Given the description of an element on the screen output the (x, y) to click on. 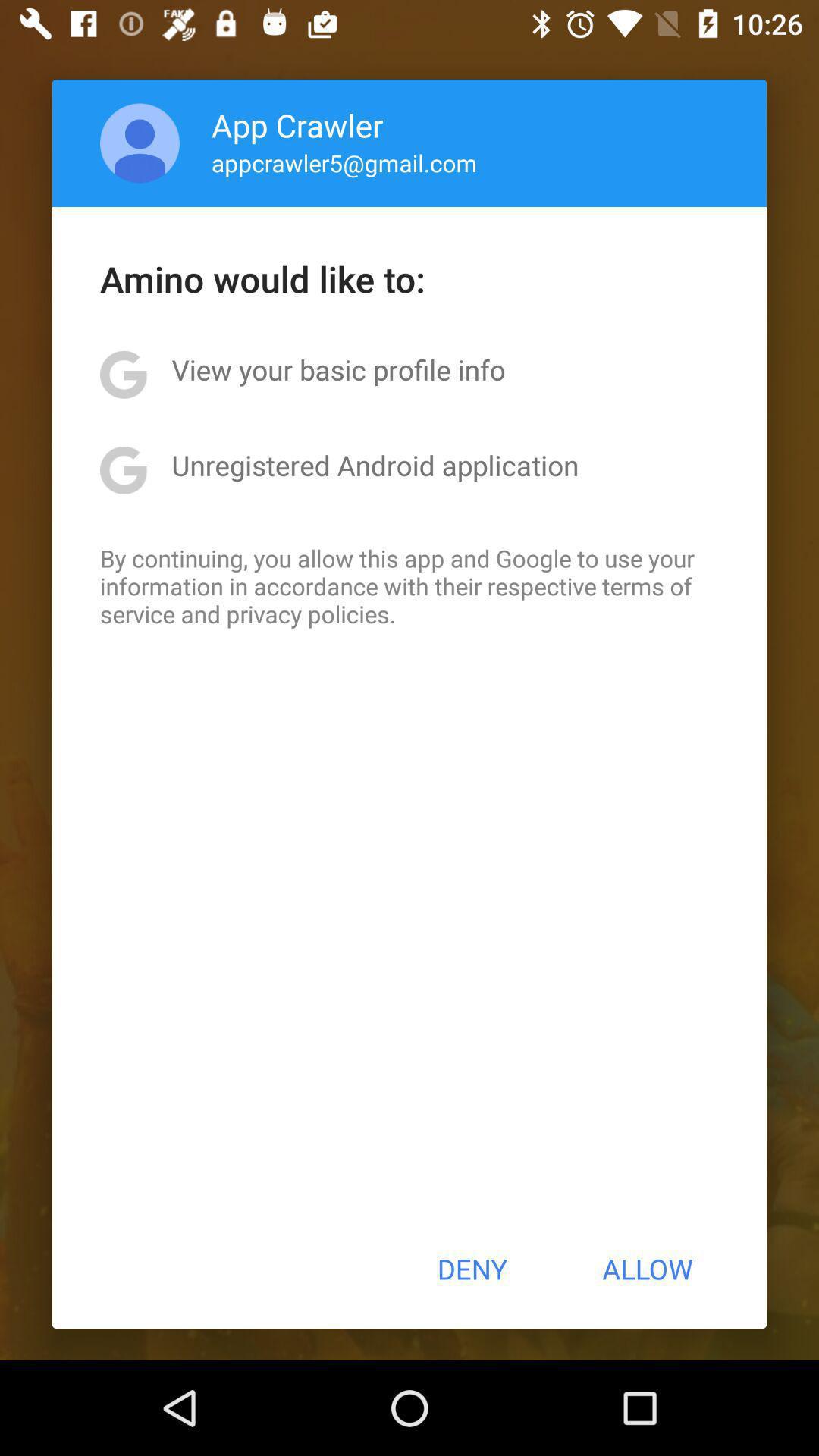
swipe until the unregistered android application app (374, 465)
